Given the description of an element on the screen output the (x, y) to click on. 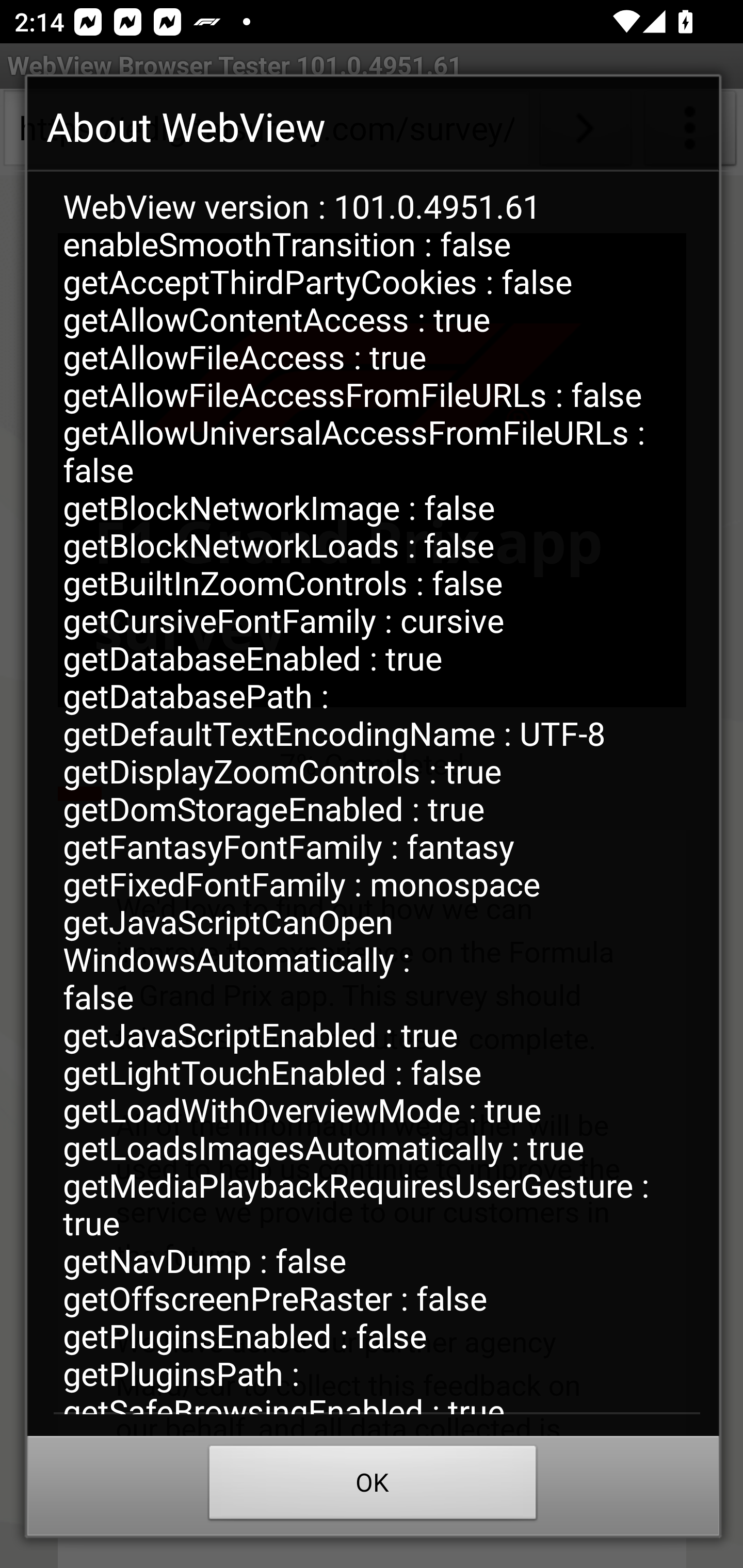
OK (372, 1486)
